Given the description of an element on the screen output the (x, y) to click on. 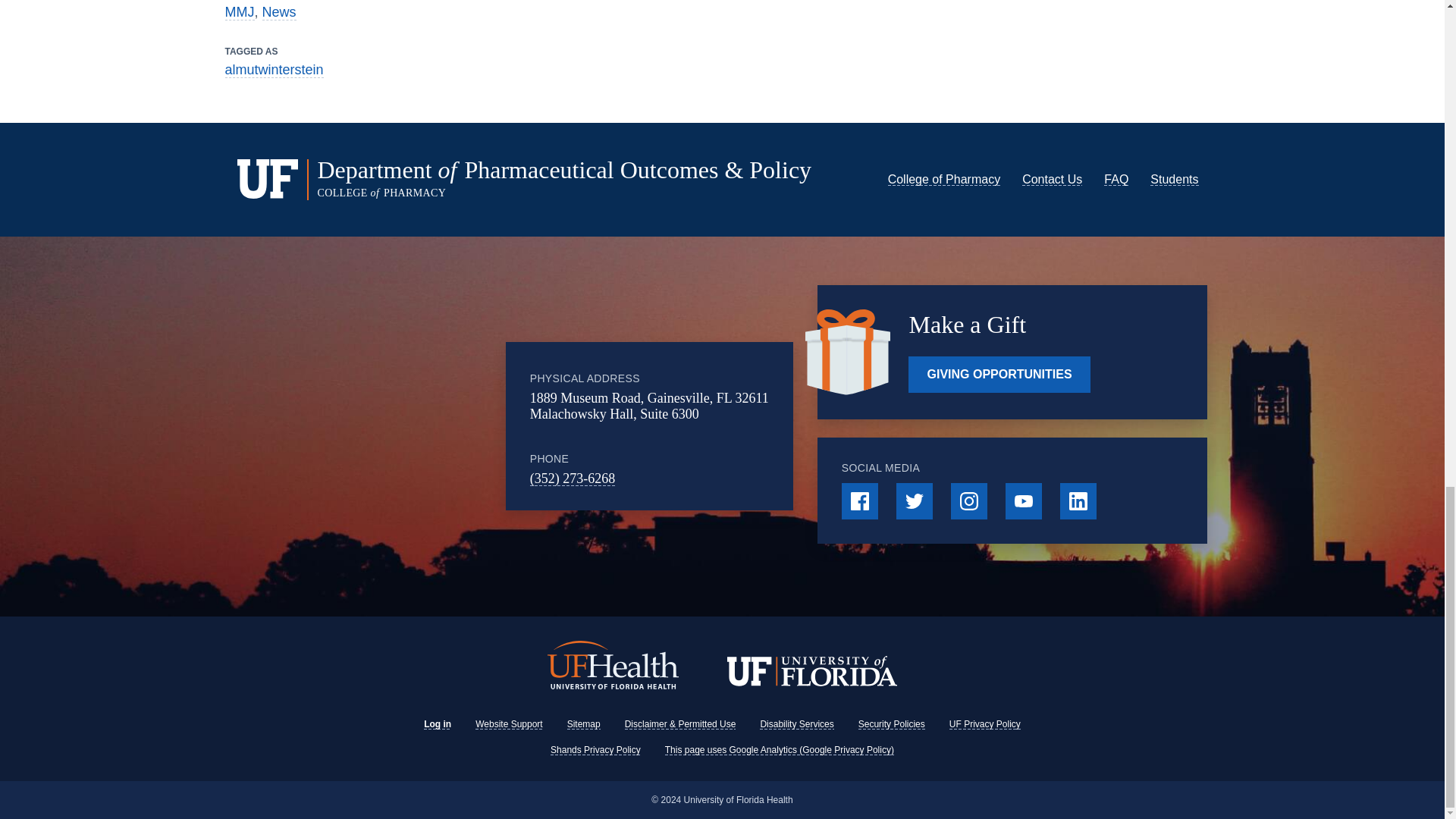
FAQ (1115, 178)
Security Policies (891, 724)
Website Support (509, 724)
Contact Us (1051, 178)
Students (1174, 178)
Shands Privacy Policy (595, 749)
Log in (437, 724)
Google Maps Embed (418, 425)
UF Privacy Policy (984, 724)
College of Pharmacy (944, 178)
Sitemap (583, 724)
Disability Services (796, 724)
